Given the description of an element on the screen output the (x, y) to click on. 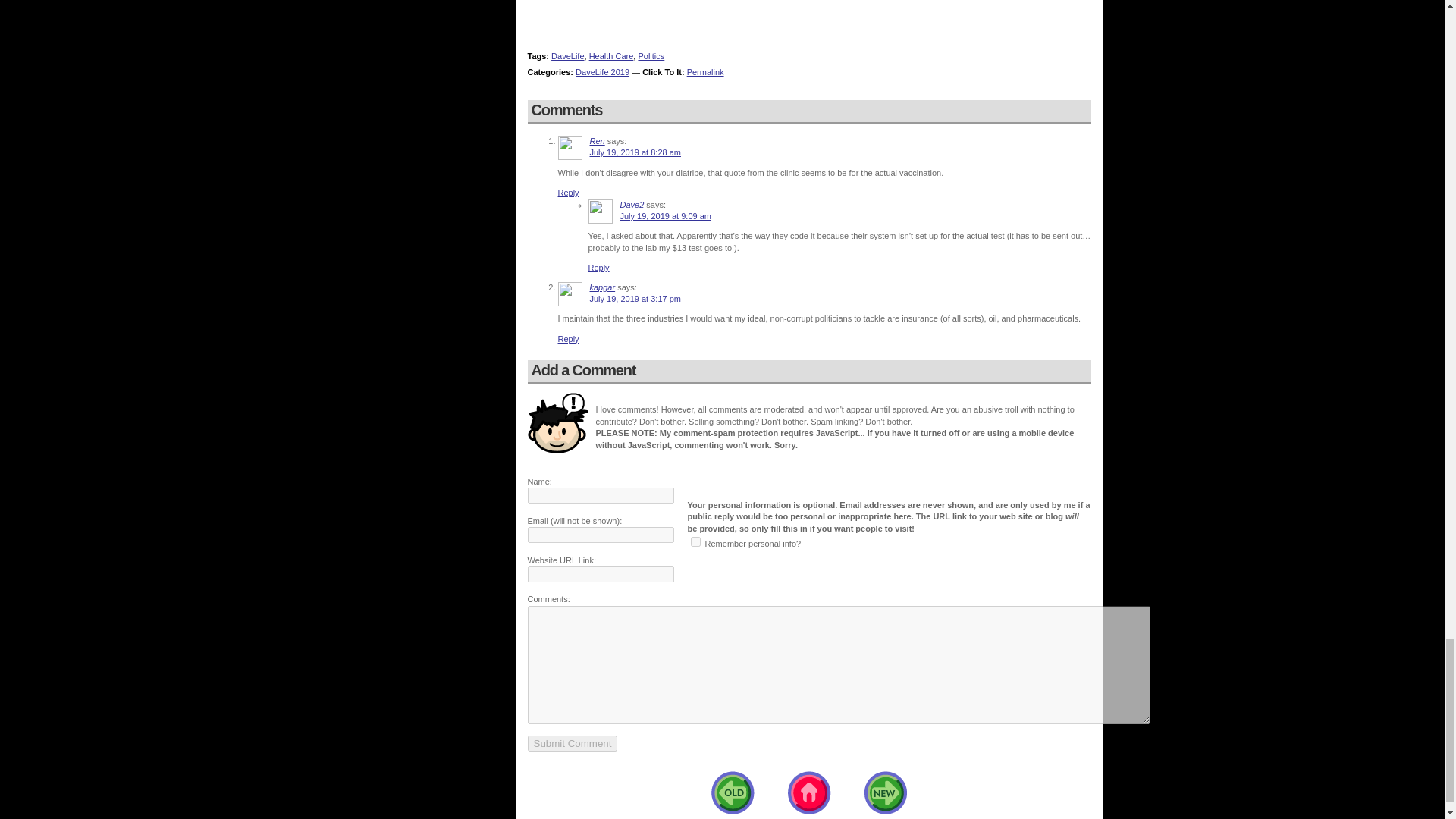
DaveLife (567, 55)
July 19, 2019 at 3:17 pm (635, 298)
Submit Comment (572, 743)
Submit Comment (572, 743)
Reply (568, 192)
kapgar (602, 286)
1 (695, 542)
Health Care (611, 55)
July 19, 2019 at 8:28 am (635, 152)
Reply (568, 338)
